Given the description of an element on the screen output the (x, y) to click on. 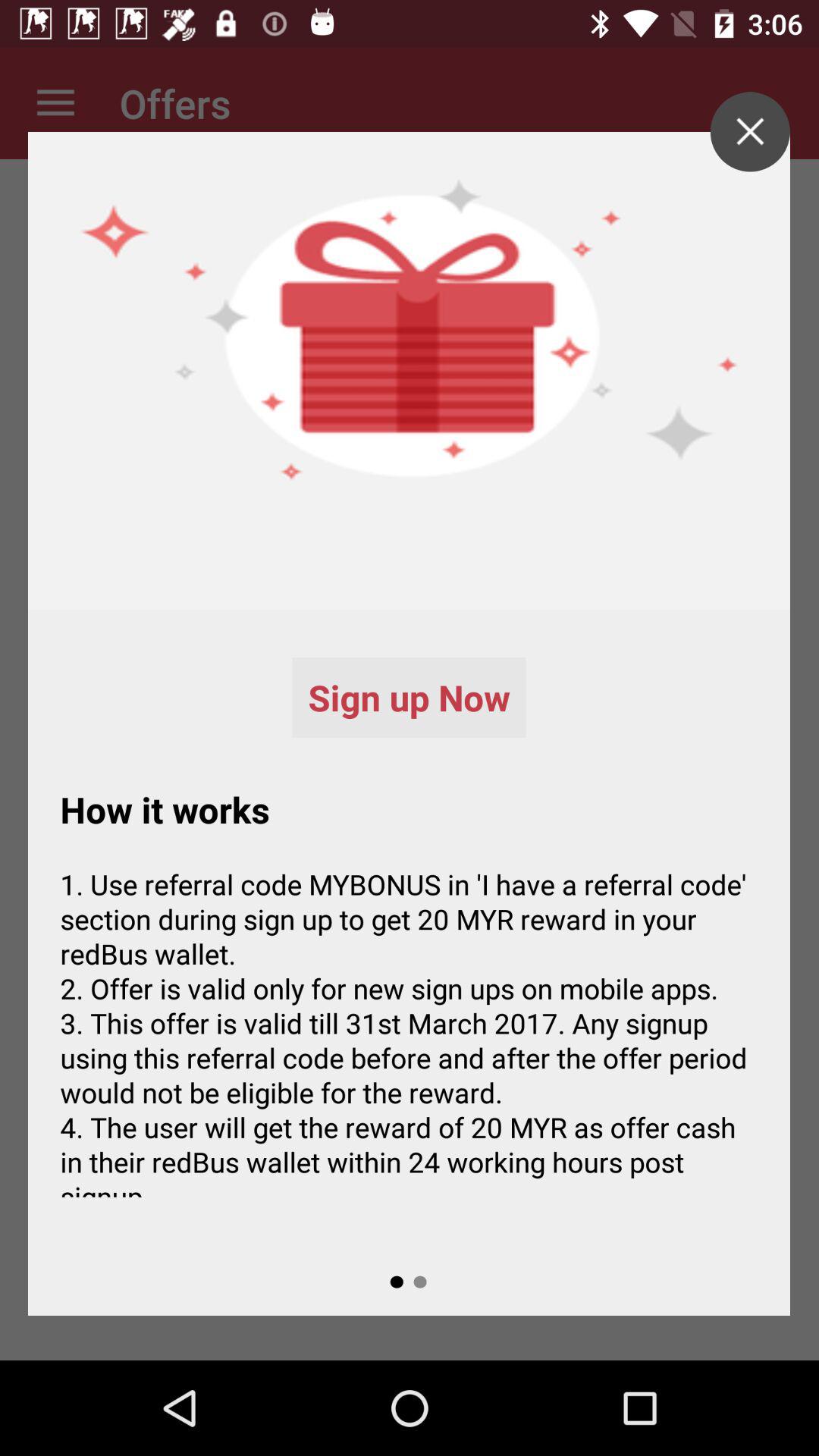
close the current window (749, 131)
